Given the description of an element on the screen output the (x, y) to click on. 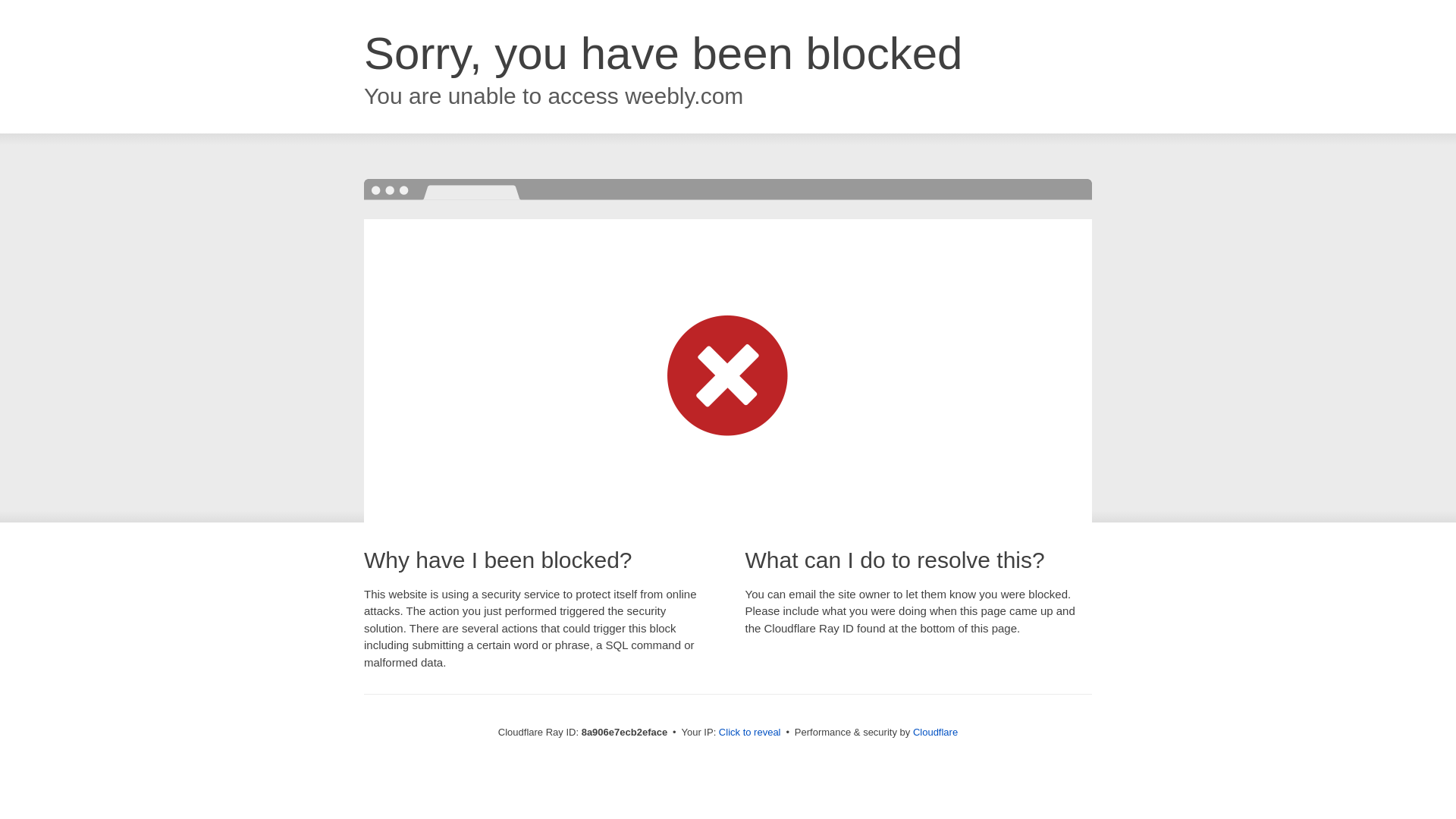
Cloudflare (935, 731)
Click to reveal (749, 732)
